Given the description of an element on the screen output the (x, y) to click on. 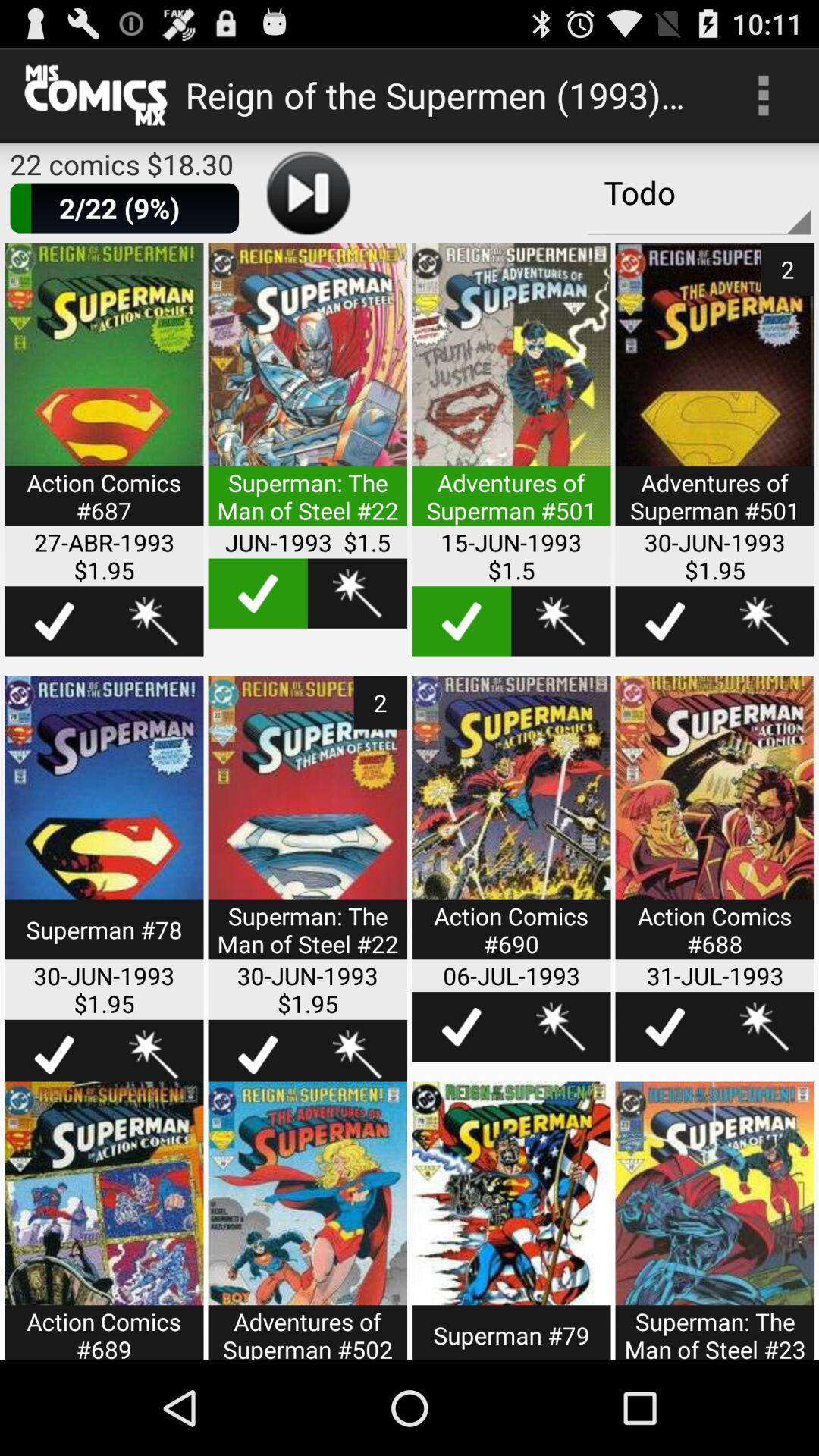
add to wishlist (357, 593)
